Given the description of an element on the screen output the (x, y) to click on. 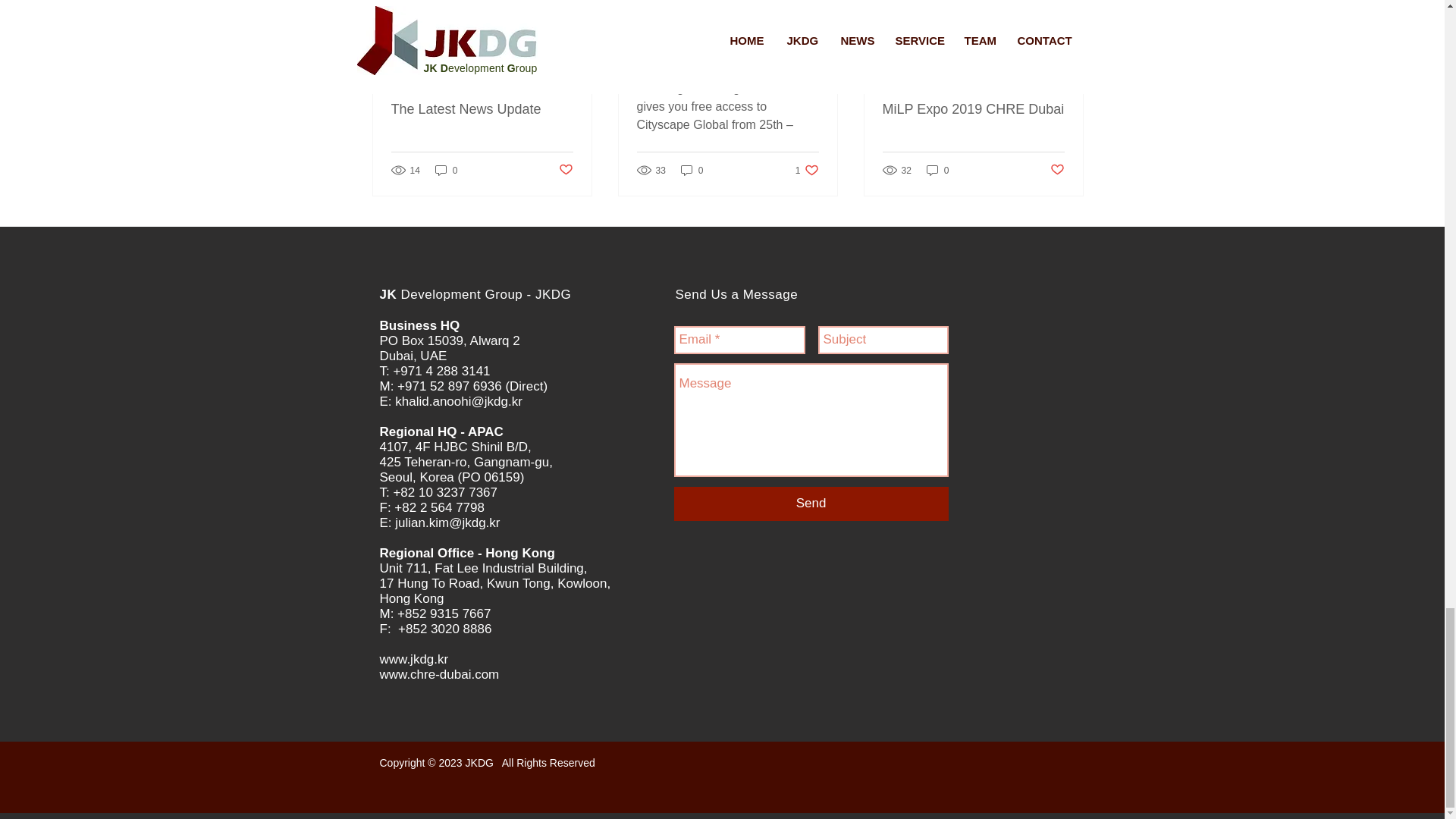
0 (937, 169)
MiLP Expo 2019 CHRE Dubai (973, 109)
www.chre-dubai.com (806, 169)
0 (438, 674)
Post not marked as liked (691, 169)
0 (564, 170)
www.jkdg.kr (446, 169)
The Latest News Update (413, 658)
Post not marked as liked (482, 109)
JK Development Group - JKDG (1056, 170)
